Given the description of an element on the screen output the (x, y) to click on. 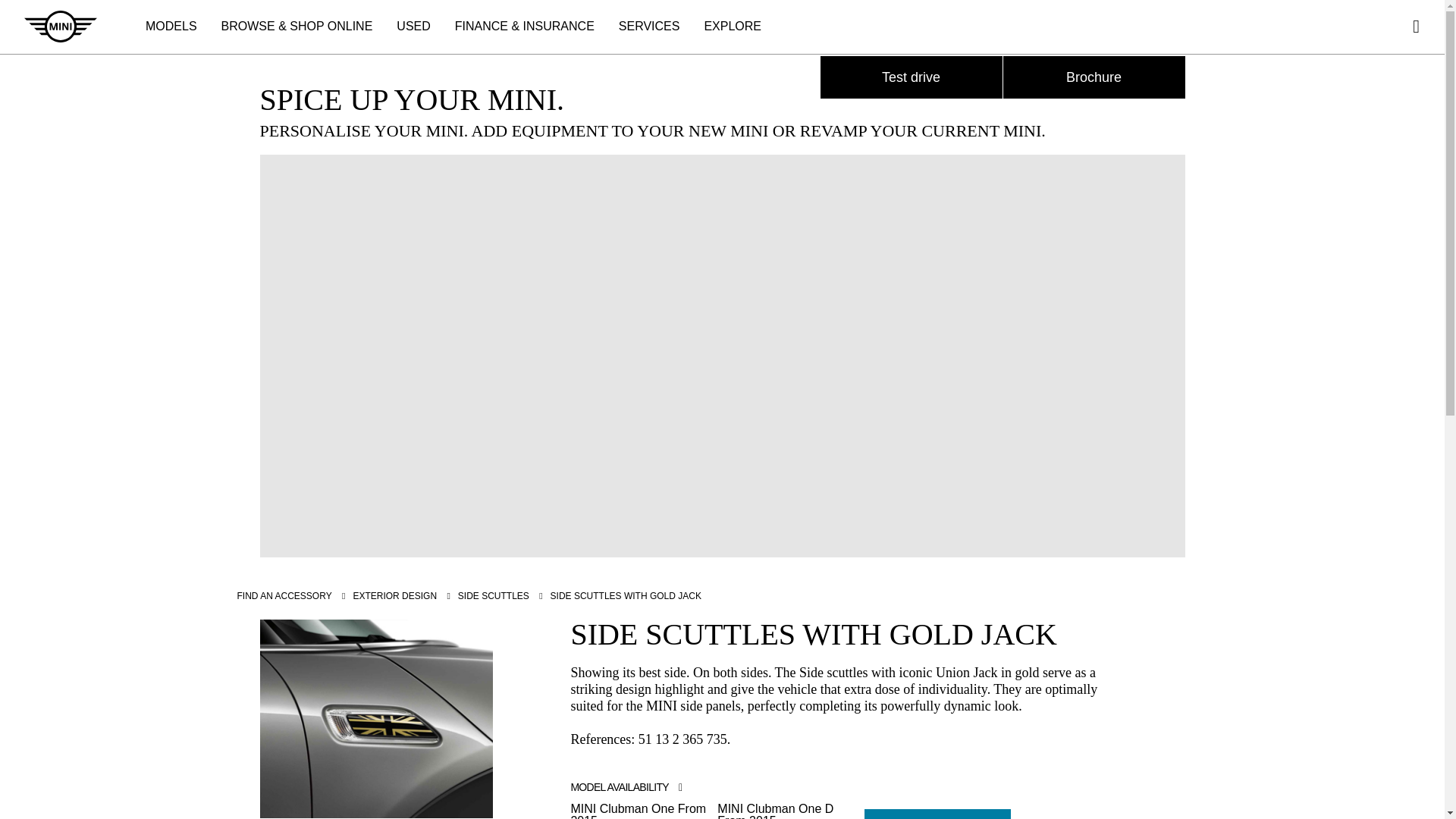
MODELS (171, 27)
SERVICES (650, 27)
MODELS (171, 27)
SERVICES (650, 27)
EXPLORE (732, 27)
USED (413, 27)
USED (413, 27)
